Given the description of an element on the screen output the (x, y) to click on. 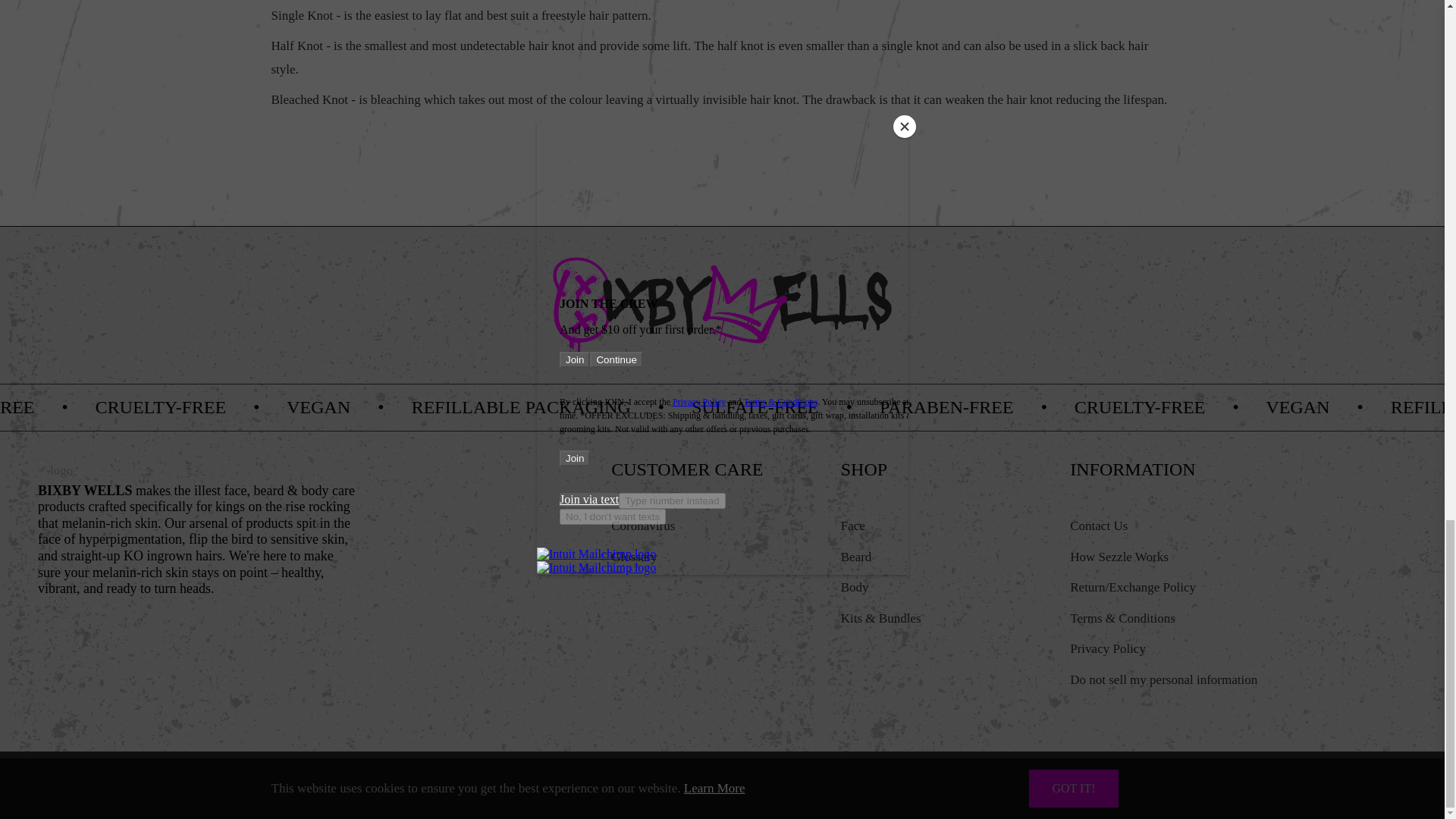
How Sezzle Works (1119, 556)
Body (855, 586)
Glossary (633, 556)
Face (852, 525)
Privacy Policy (1107, 648)
Contact Us (1098, 525)
Do not sell my personal information (1163, 679)
Beard (856, 556)
Coronavirus (643, 525)
